Given the description of an element on the screen output the (x, y) to click on. 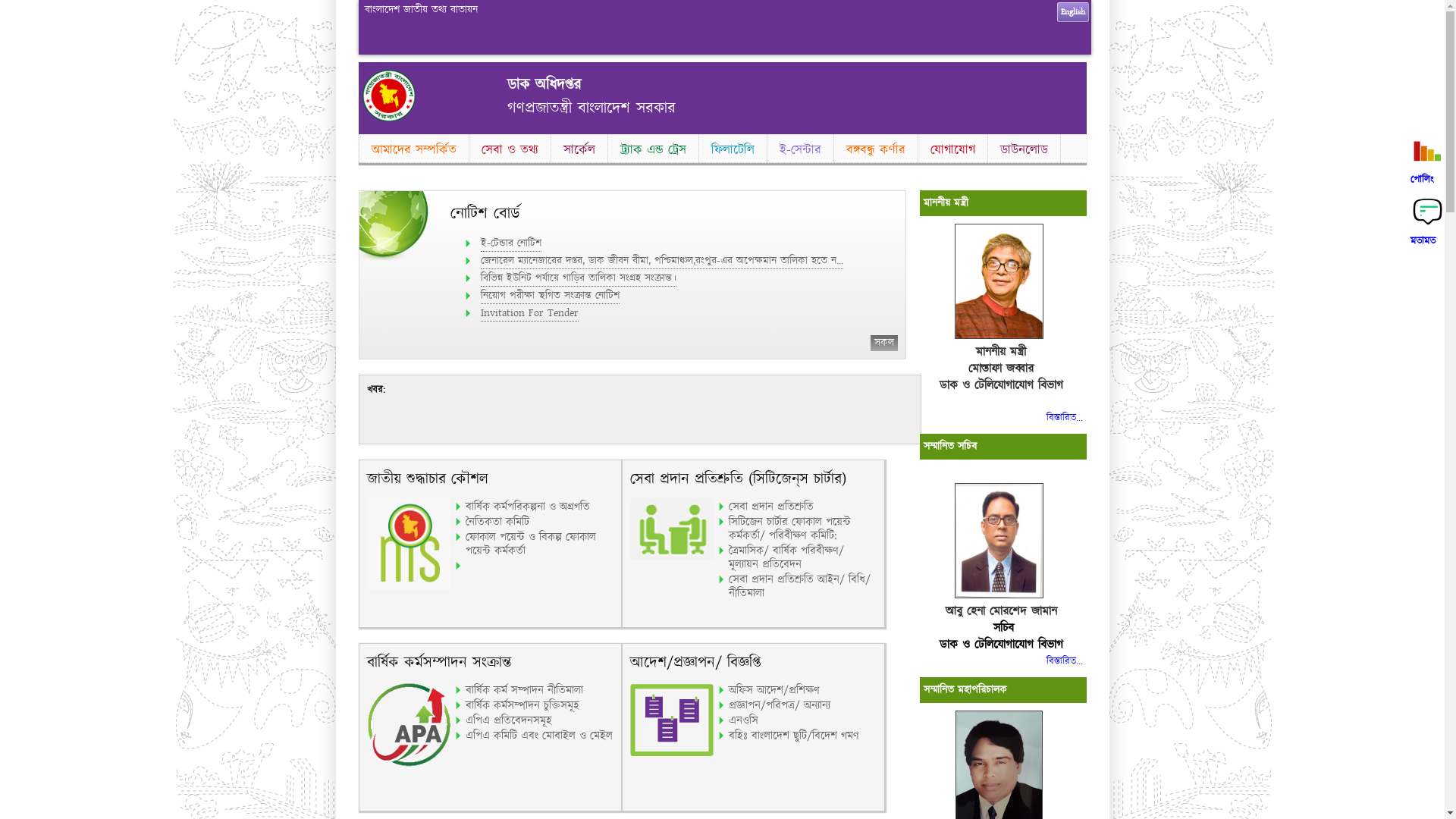
Home Element type: hover (388, 117)
English Element type: text (1072, 11)
Invitation For Tender Element type: text (529, 313)
